Given the description of an element on the screen output the (x, y) to click on. 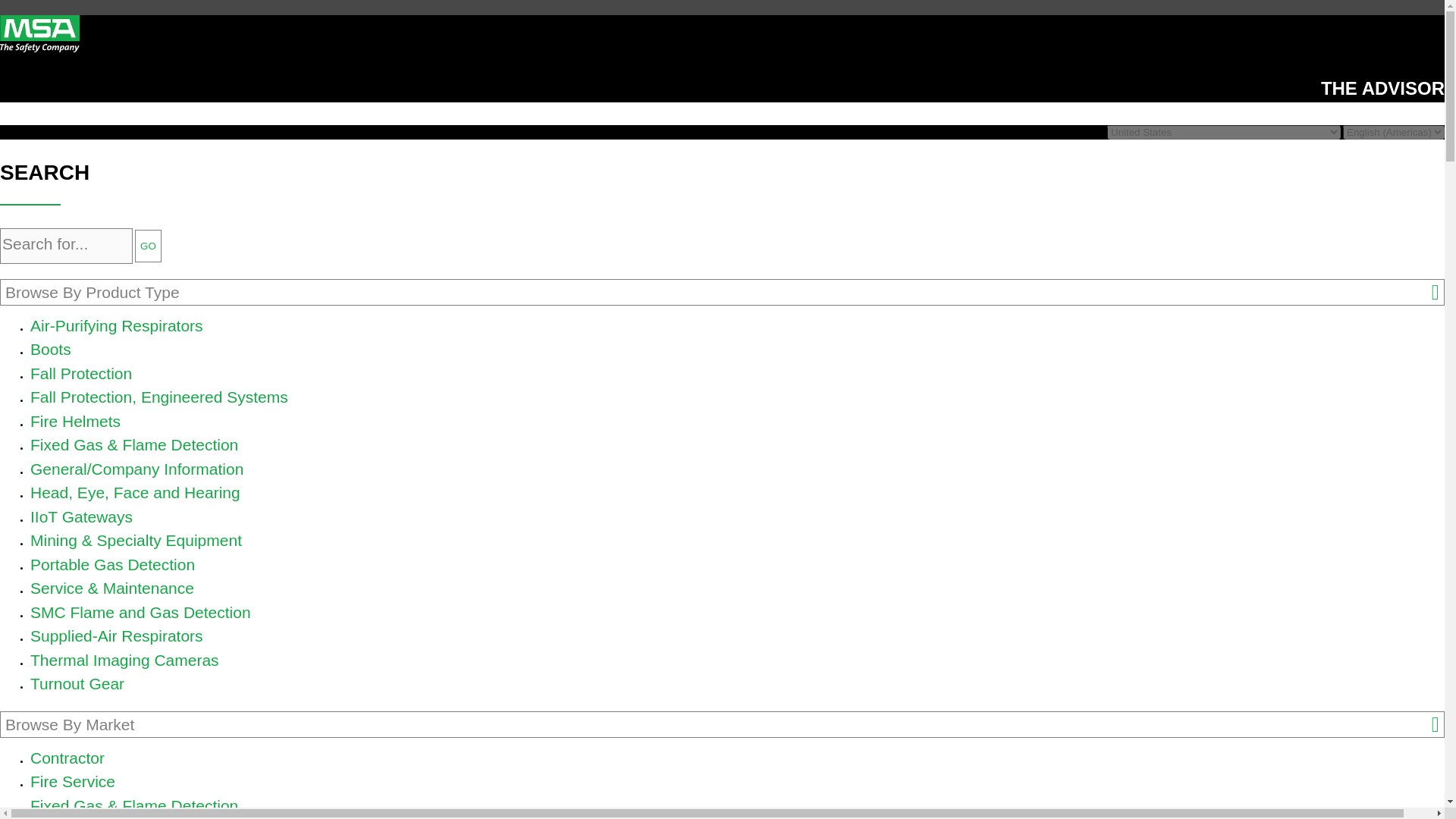
Portable Gas Detection (112, 564)
Supplied-Air Respirators (116, 635)
Browse By Product Type (722, 292)
Boots (50, 348)
Head, Eye, Face and Hearing (135, 492)
Fall Protection (81, 373)
Fire Service (72, 781)
Browse By Market (722, 724)
SMC Flame and Gas Detection (140, 611)
Turnout Gear (76, 683)
Fire Helmets (75, 420)
Thermal Imaging Cameras (124, 660)
IIoT Gateways (81, 516)
Fall Protection, Engineered Systems (159, 396)
Air-Purifying Respirators (116, 325)
